Given the description of an element on the screen output the (x, y) to click on. 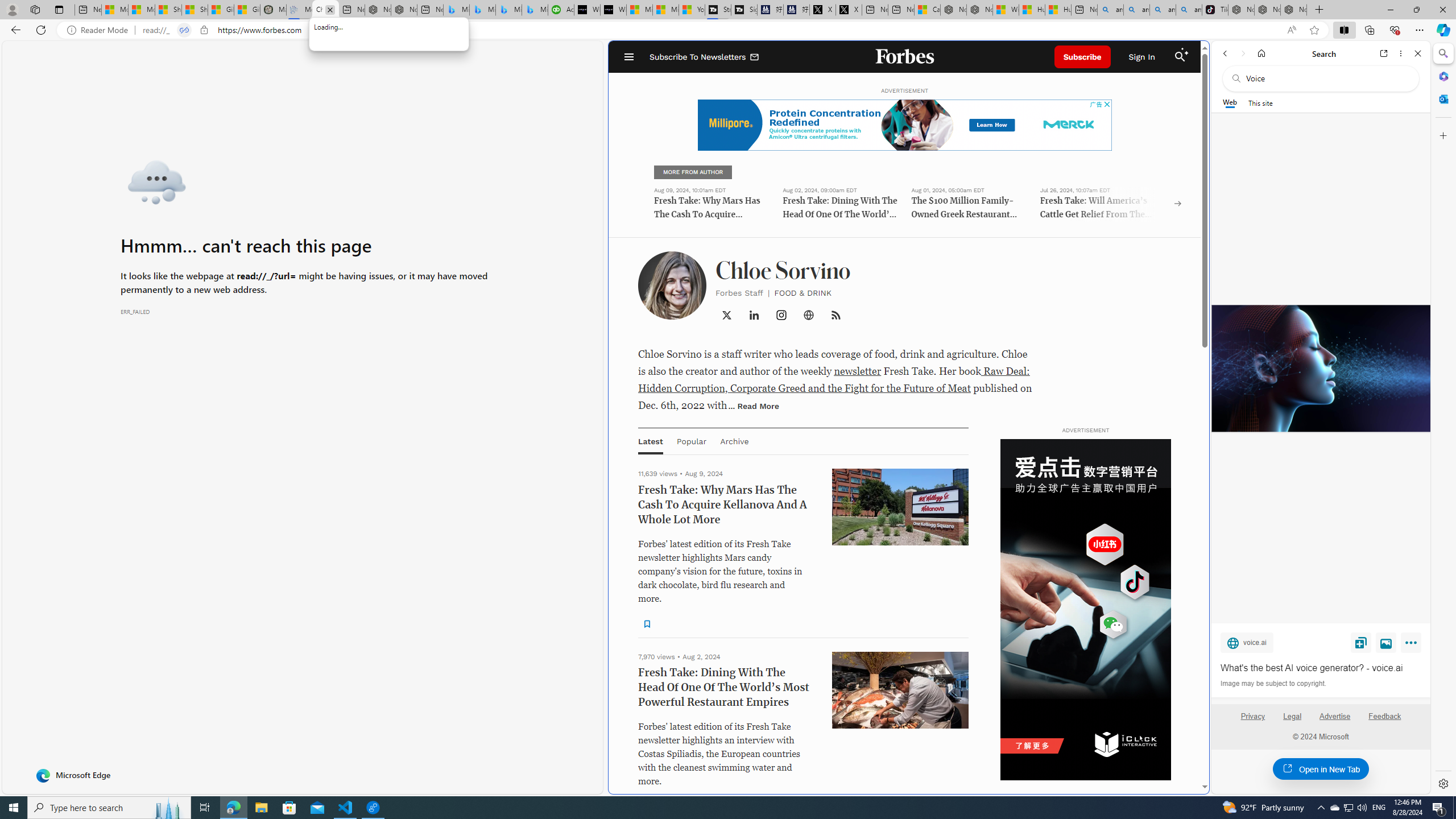
Search the web (1326, 78)
TikTok (1214, 9)
Settings (1442, 783)
Streaming Coverage | T3 (717, 9)
Nordace Siena Pro 15 Backpack (1267, 9)
newsletter (857, 370)
Gilma and Hector both pose tropical trouble for Hawaii (246, 9)
article image (899, 689)
Accounting Software for Accountants, CPAs and Bookkeepers (561, 9)
Customize (1442, 135)
